Given the description of an element on the screen output the (x, y) to click on. 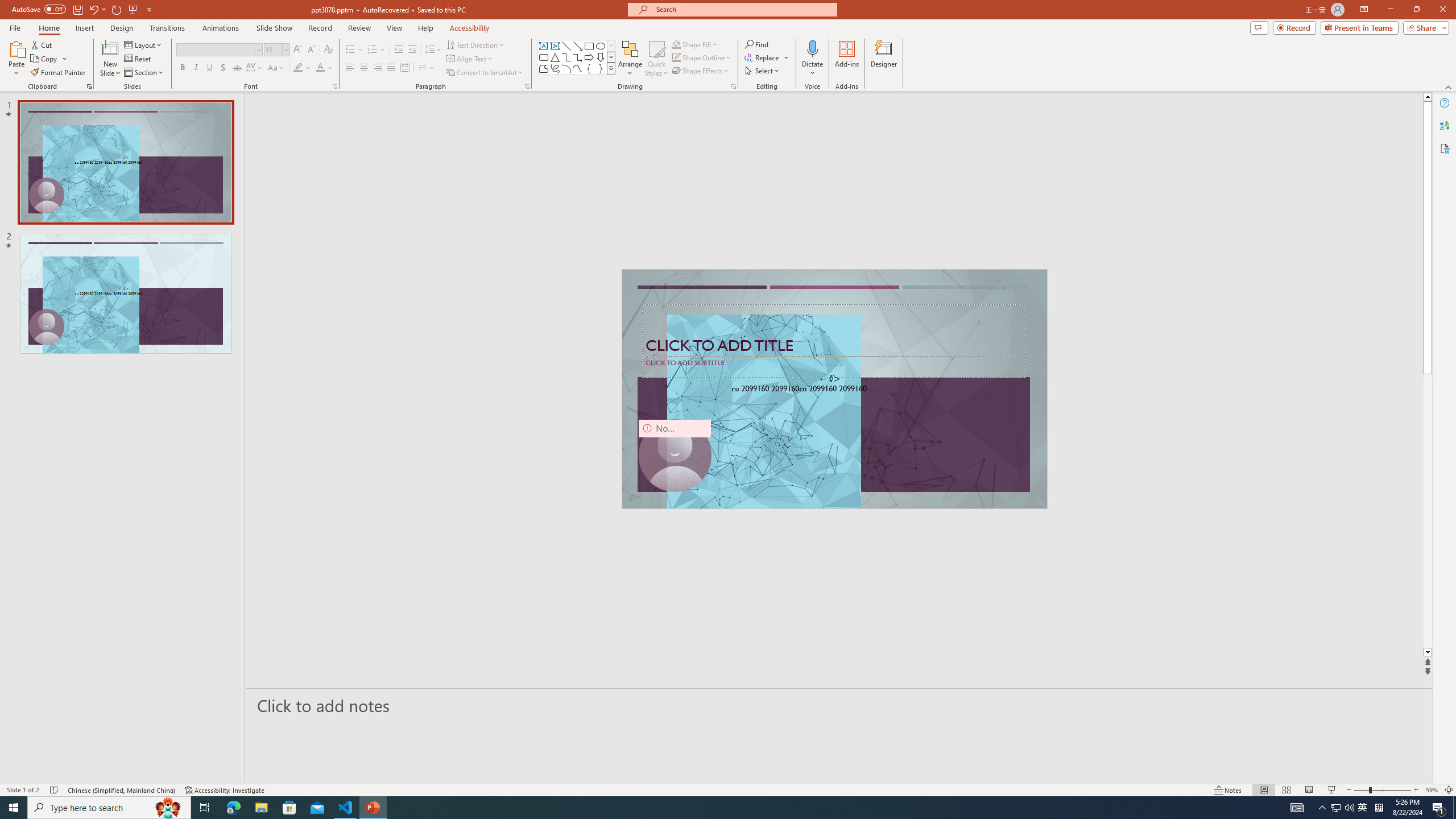
Font Color Red (320, 67)
Zoom 59% (1431, 790)
Arrange (630, 58)
Freeform: Shape (543, 68)
Find... (756, 44)
